Given the description of an element on the screen output the (x, y) to click on. 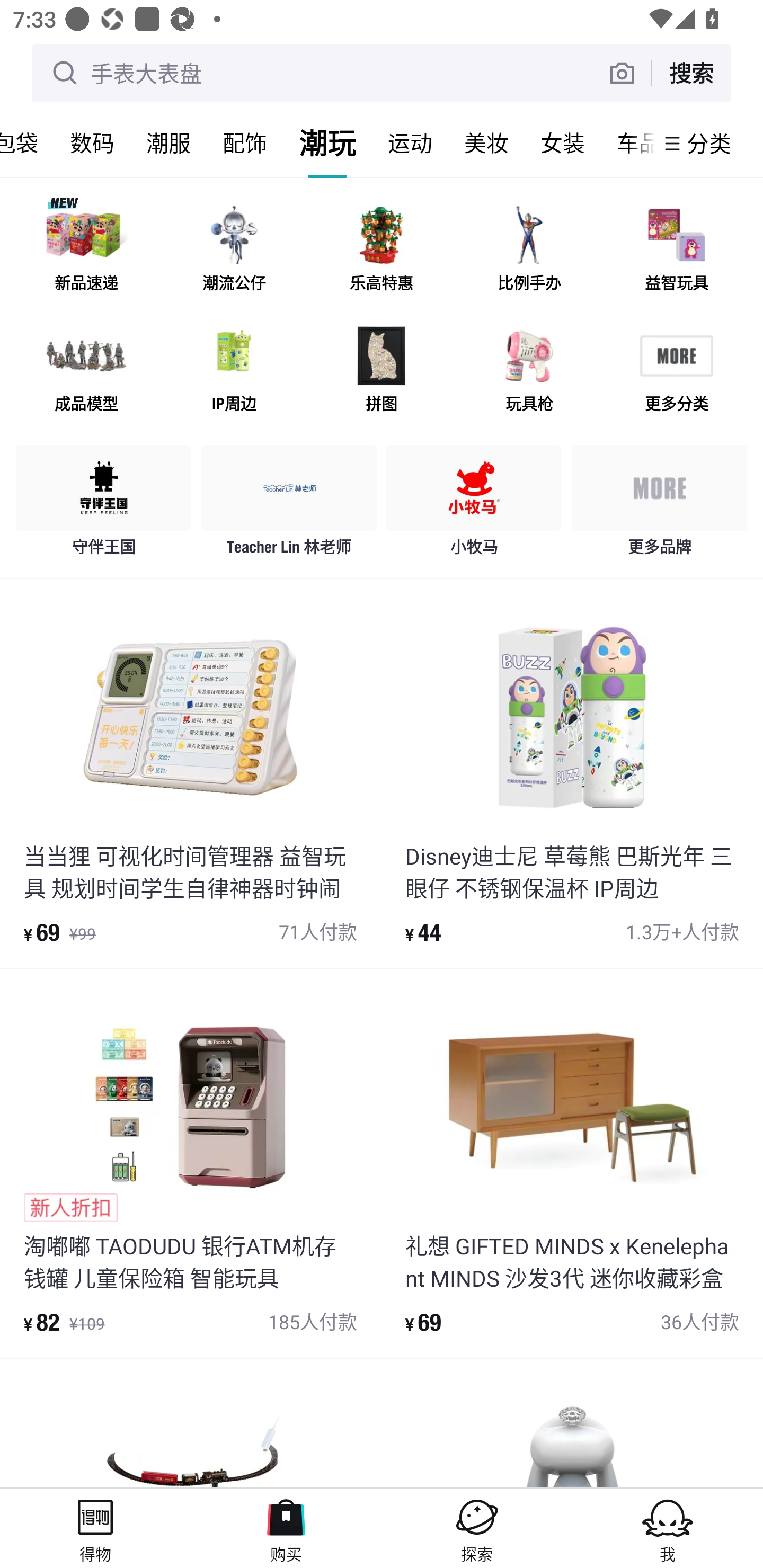
搜索 (690, 72)
数码 (92, 143)
潮服 (168, 143)
配饰 (244, 143)
潮玩 (327, 143)
运动 (410, 143)
美妆 (486, 143)
女装 (562, 143)
分类 (708, 143)
新品速递 (86, 251)
潮流公仔 (233, 251)
乐高特惠 (381, 251)
比例手办 (528, 251)
益智玩具 (676, 251)
成品模型 (86, 372)
IP周边 (233, 372)
拼图 (381, 372)
玩具枪 (528, 372)
更多分类 (676, 372)
守伴王国 (103, 505)
Teacher Lin 林老师 (288, 505)
小牧马 (473, 505)
更多品牌 (658, 505)
得物 (95, 1528)
购买 (285, 1528)
探索 (476, 1528)
我 (667, 1528)
